Given the description of an element on the screen output the (x, y) to click on. 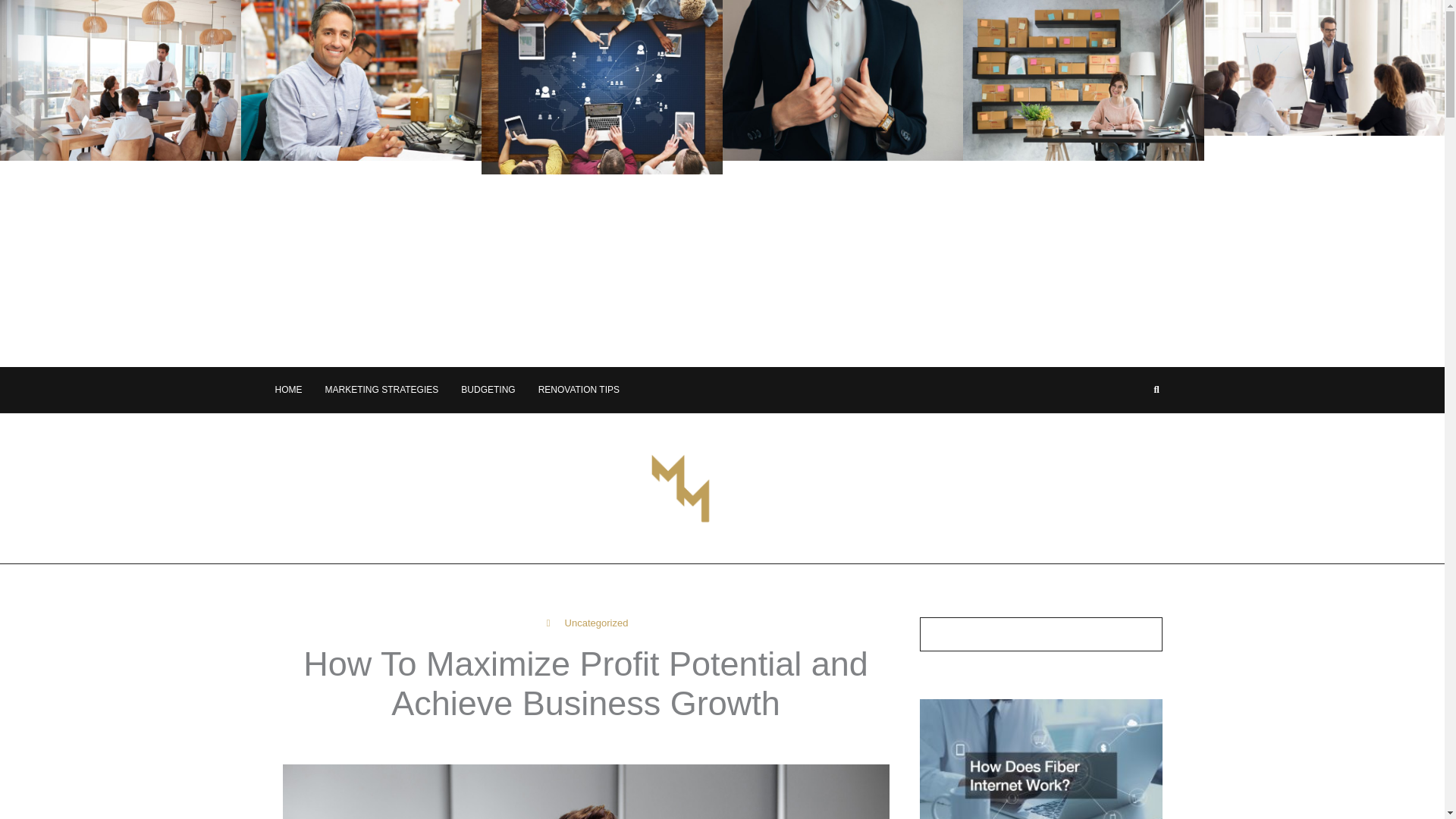
HOME (288, 389)
MARKETING STRATEGIES (381, 389)
RENOVATION TIPS (579, 389)
Search (1143, 634)
June 2, 2023 (668, 743)
BUDGETING (488, 389)
Alex "TechWhiz" Merrimack (538, 743)
Uncategorized (596, 622)
